Given the description of an element on the screen output the (x, y) to click on. 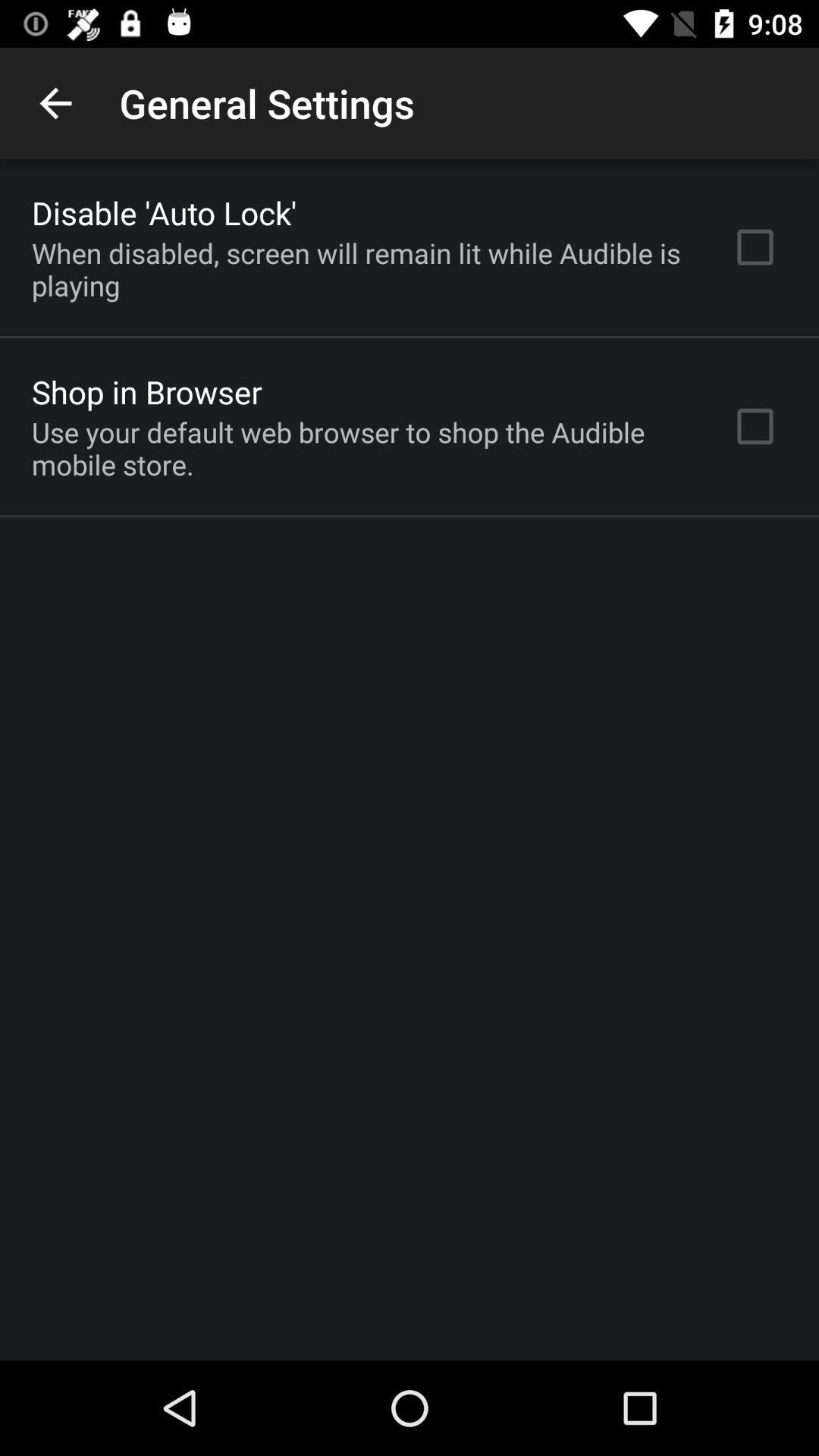
turn off icon below shop in browser item (361, 448)
